Given the description of an element on the screen output the (x, y) to click on. 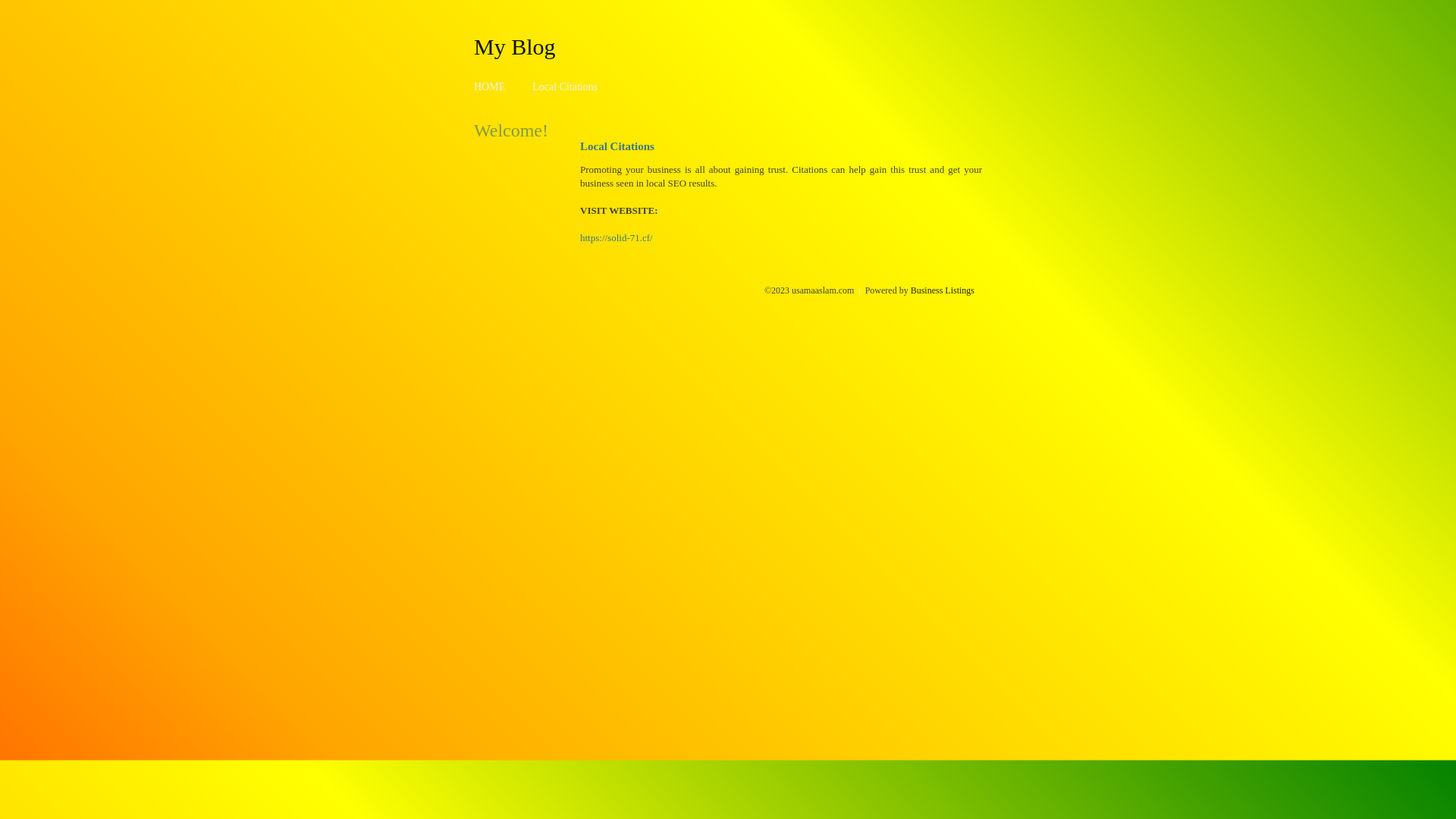
My Blog Element type: text (514, 46)
Business Listings Element type: text (942, 290)
https://solid-71.cf/ Element type: text (616, 237)
Local Citations Element type: text (564, 86)
HOME Element type: text (489, 86)
